Given the description of an element on the screen output the (x, y) to click on. 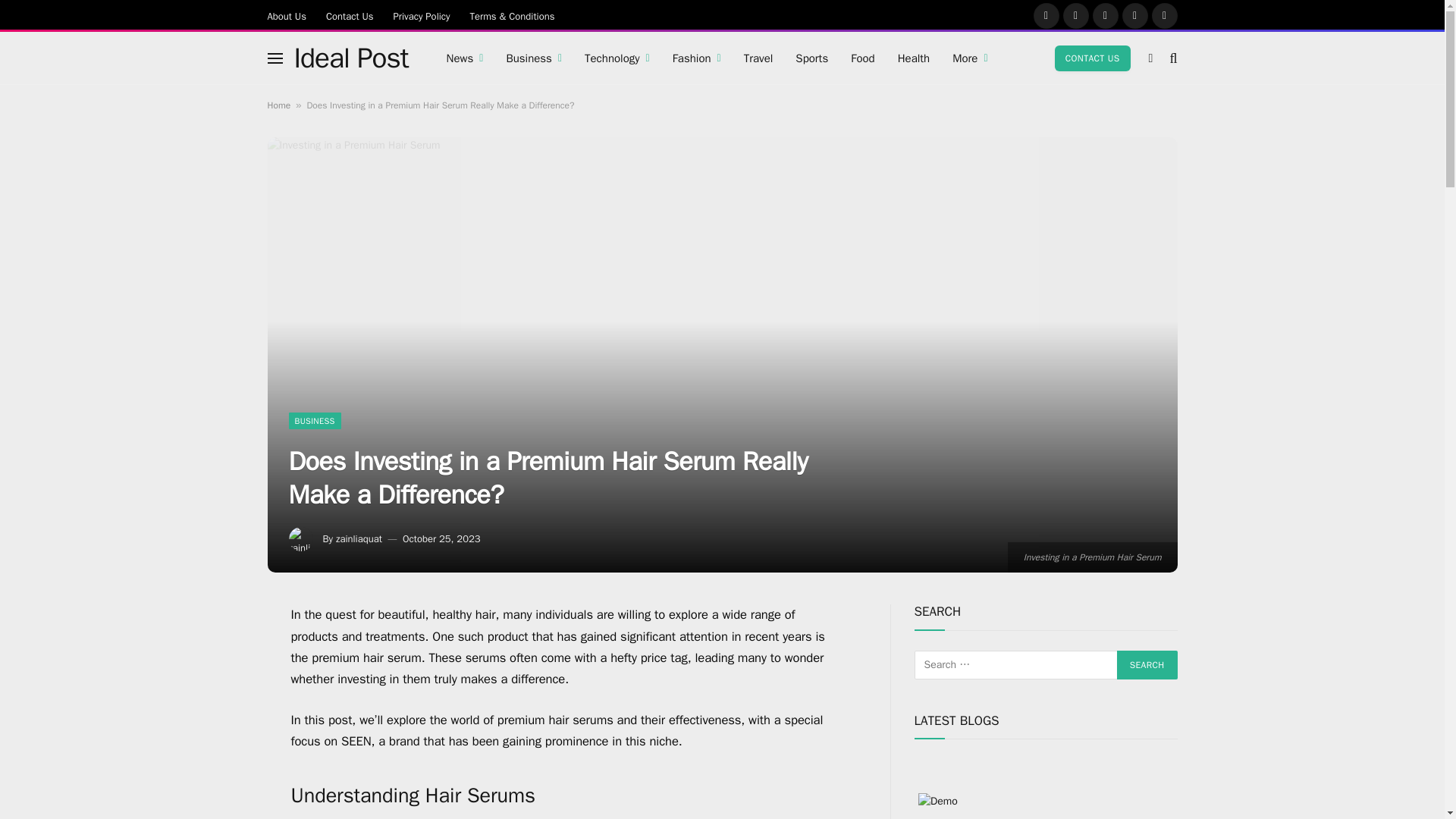
Switch to Dark Design - easier on eyes. (1150, 57)
About Us (286, 15)
Search (1146, 664)
Privacy Policy (422, 15)
Contact Us (349, 15)
Posts by zainliaquat (358, 538)
Ideal Post (351, 57)
Search (1146, 664)
